Given the description of an element on the screen output the (x, y) to click on. 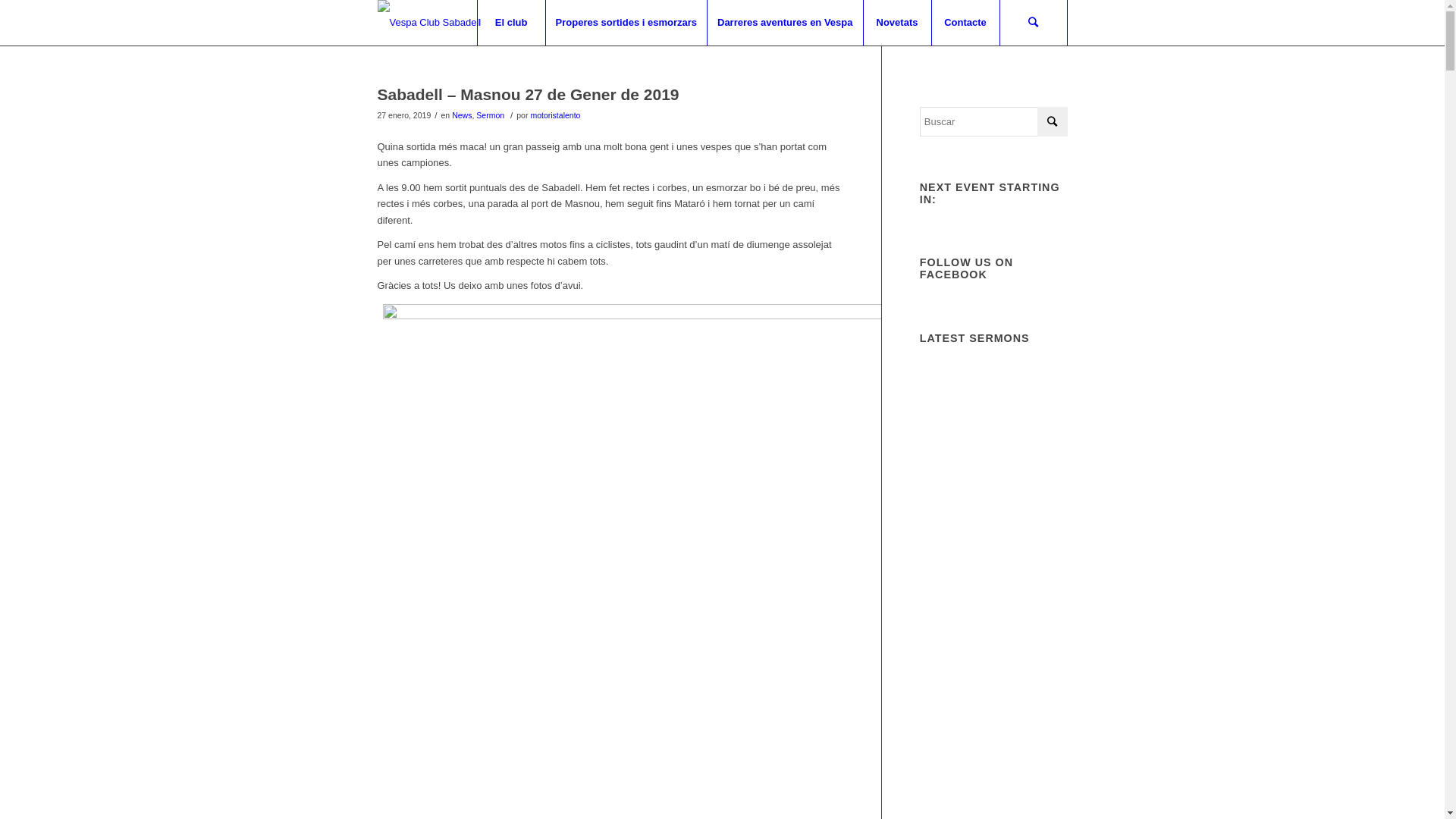
Darreres aventures en Vespa Element type: text (784, 22)
News Element type: text (461, 114)
Contacte Element type: text (965, 22)
El club Element type: text (510, 22)
Sermon Element type: text (490, 114)
Novetats Element type: text (896, 22)
motoristalento Element type: text (555, 114)
Properes sortides i esmorzars Element type: text (625, 22)
